Given the description of an element on the screen output the (x, y) to click on. 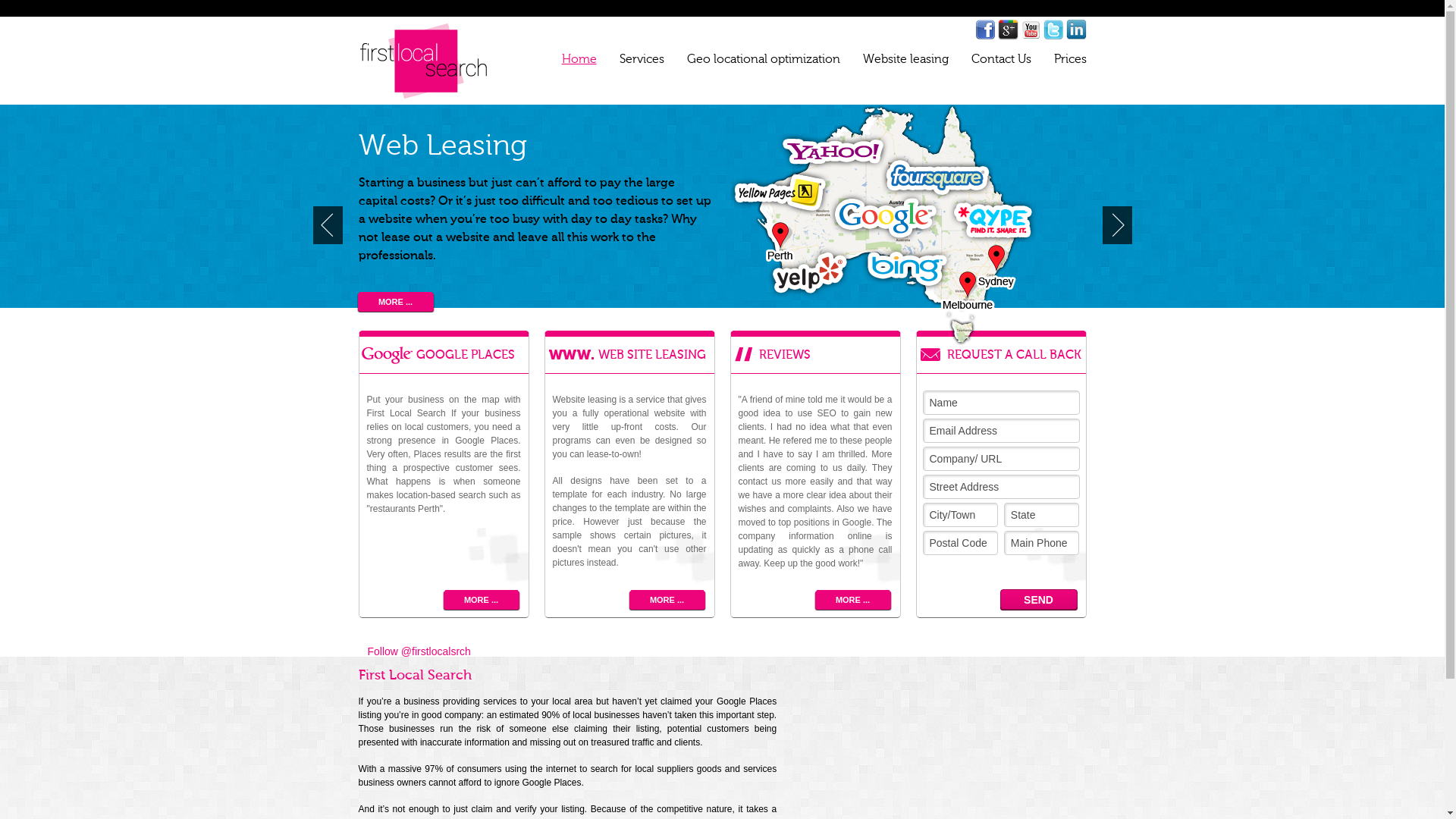
Follow @firstlocalsrch Element type: text (418, 651)
Home Element type: text (578, 58)
Our LinkedIn Page Element type: hover (1076, 29)
Our Google Plus Page Element type: hover (1007, 29)
MORE ... Element type: text (394, 301)
Our Youtube Page Element type: hover (1030, 29)
Our Twitter Page Element type: hover (1053, 29)
SEND Element type: text (1037, 599)
Contact Us Element type: text (1000, 58)
LinkedIn Embedded Content Element type: hover (480, 648)
Services Element type: text (640, 58)
MORE ... Element type: text (852, 599)
MORE ... Element type: text (481, 599)
First Local Search Element type: text (423, 60)
Our Facebook Page Element type: hover (985, 29)
MORE ... Element type: text (666, 599)
Geo locational optimization Element type: text (763, 58)
Website leasing Element type: text (905, 58)
Prices Element type: text (1070, 58)
